Given the description of an element on the screen output the (x, y) to click on. 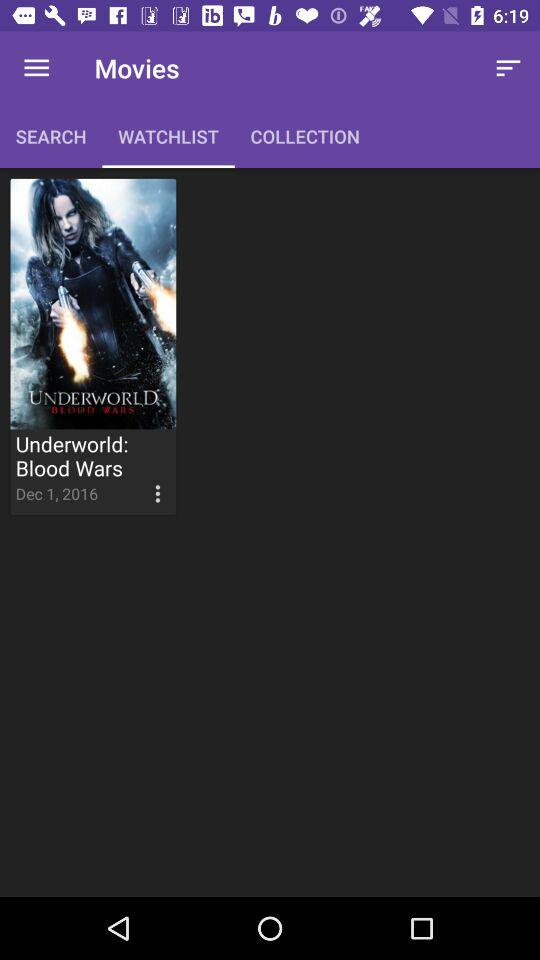
press the icon next to the collection item (508, 67)
